Given the description of an element on the screen output the (x, y) to click on. 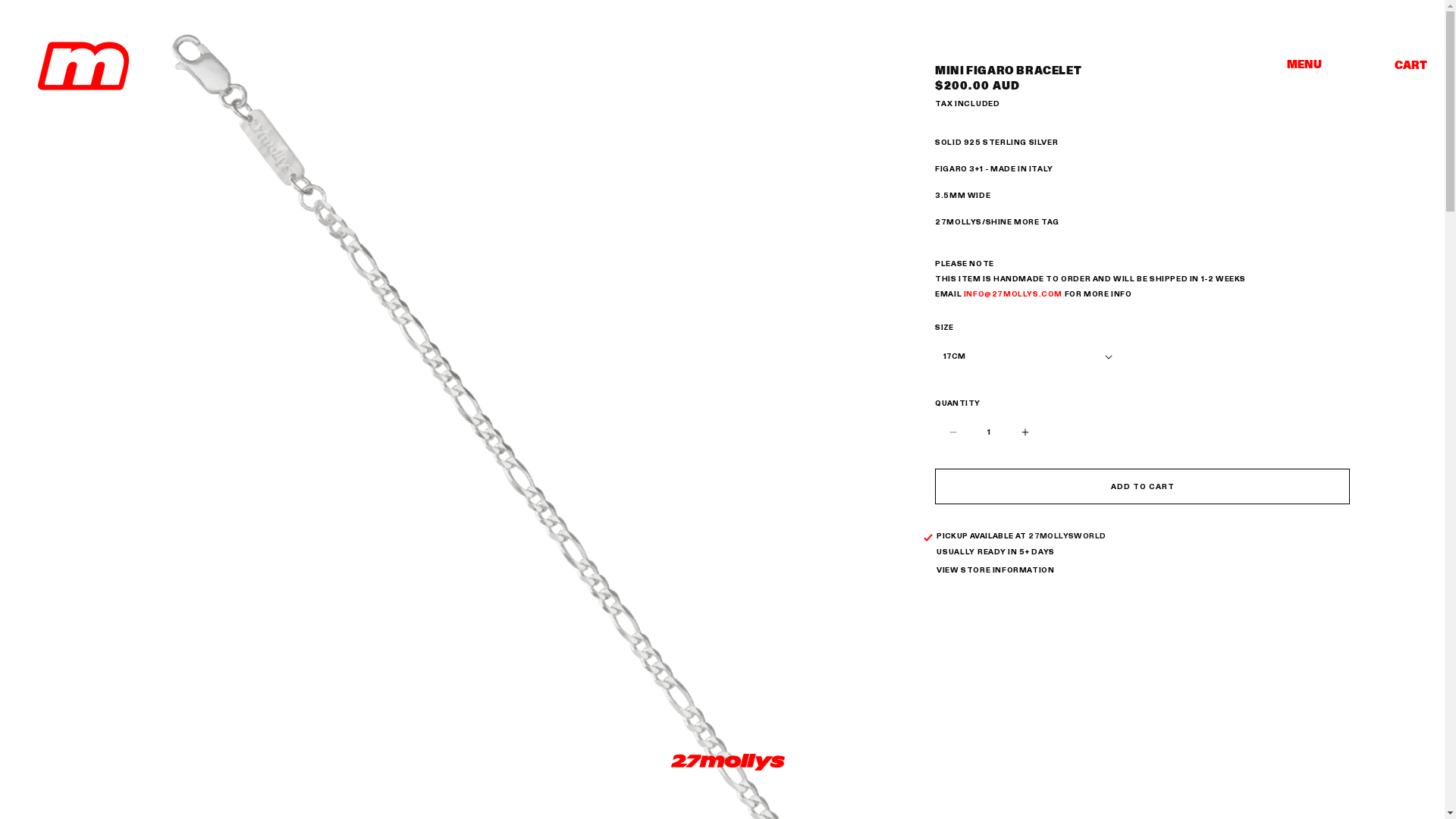
CART
Cart Element type: text (1410, 65)
VIEW STORE INFORMATION Element type: text (995, 570)
INFO Element type: text (973, 292)
Decrease quantity for Mini Figaro Bracelet Element type: text (952, 431)
Skip to product information Element type: text (140, 126)
Increase quantity for Mini Figaro Bracelet Element type: text (1024, 431)
ADD TO CART Element type: text (1142, 486)
@27MOLLYS.COM Element type: text (1023, 292)
